Given the description of an element on the screen output the (x, y) to click on. 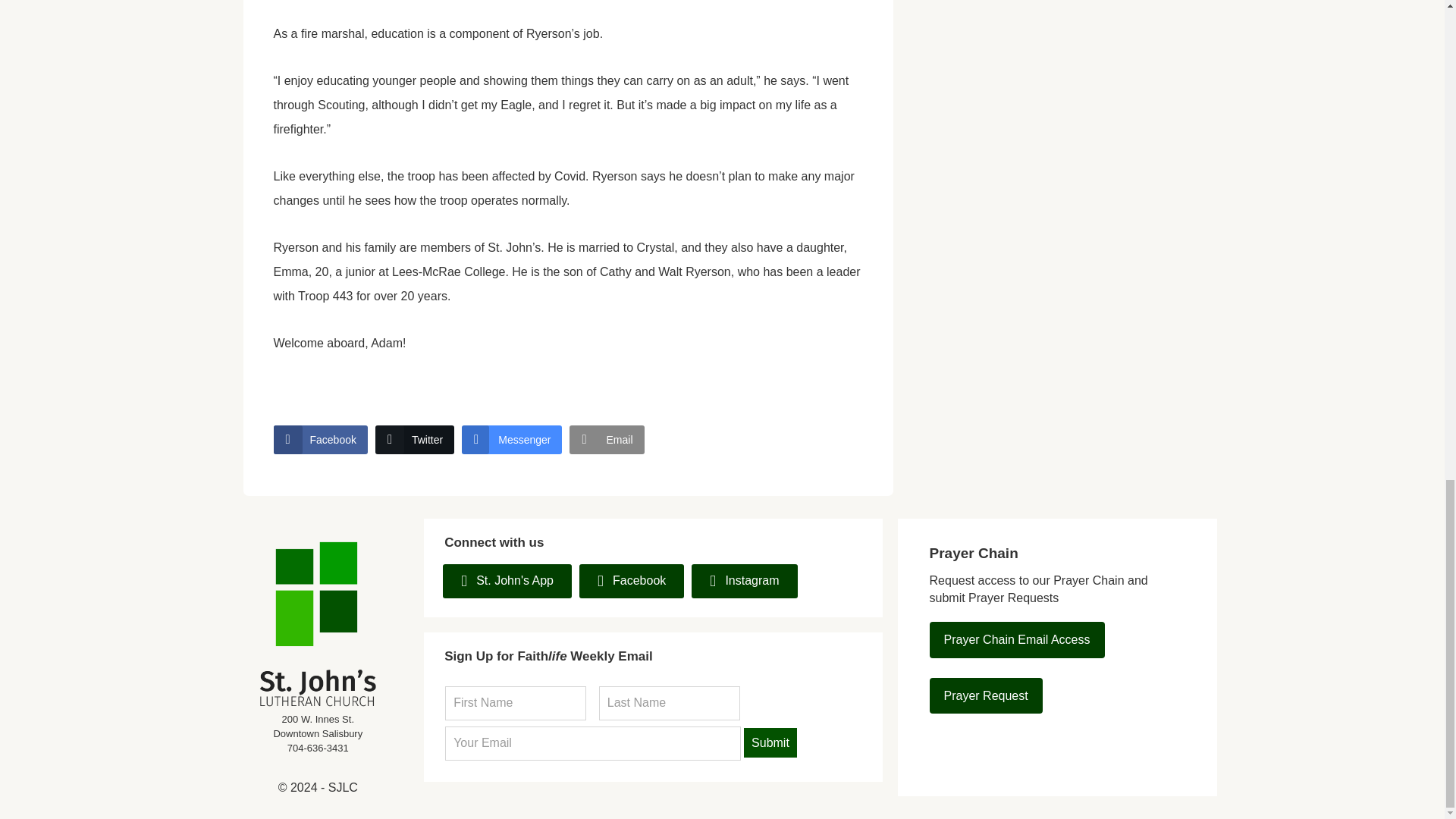
Submit (770, 742)
